Given the description of an element on the screen output the (x, y) to click on. 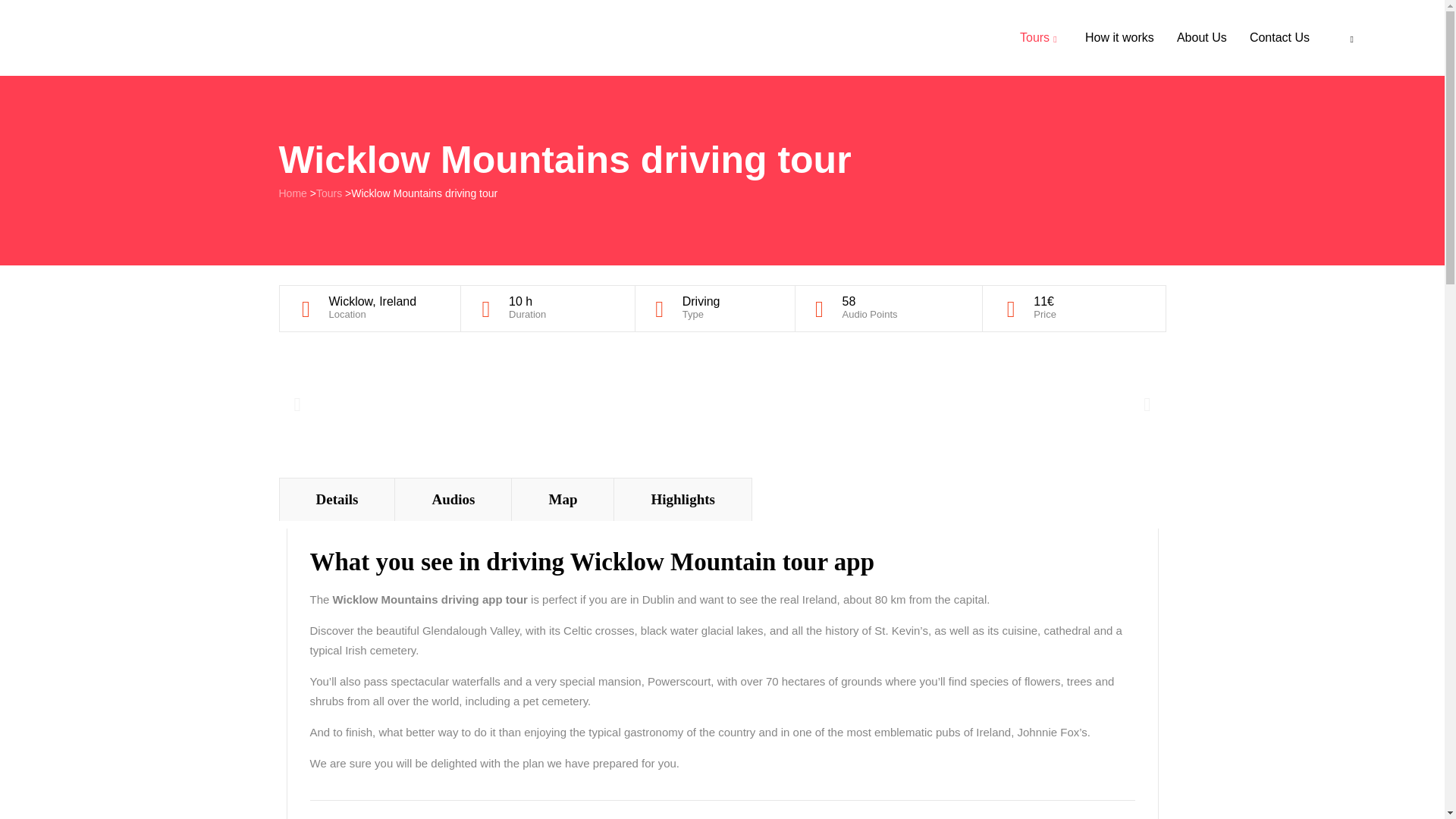
About Us (1201, 38)
Map (562, 498)
Wicklow Mountains driving tour 6 (721, 404)
Tours (328, 193)
Go to Tours. (328, 193)
Best Local Guide App (188, 38)
Audios (452, 498)
Wicklow Mountains driving tour 7 (1012, 404)
Details (336, 498)
Go to Best Local Guide App. (293, 193)
Highlights (682, 498)
How it works (1119, 38)
Home (293, 193)
Wicklow Mountains driving tour 5 (431, 404)
Contact Us (1279, 38)
